Given the description of an element on the screen output the (x, y) to click on. 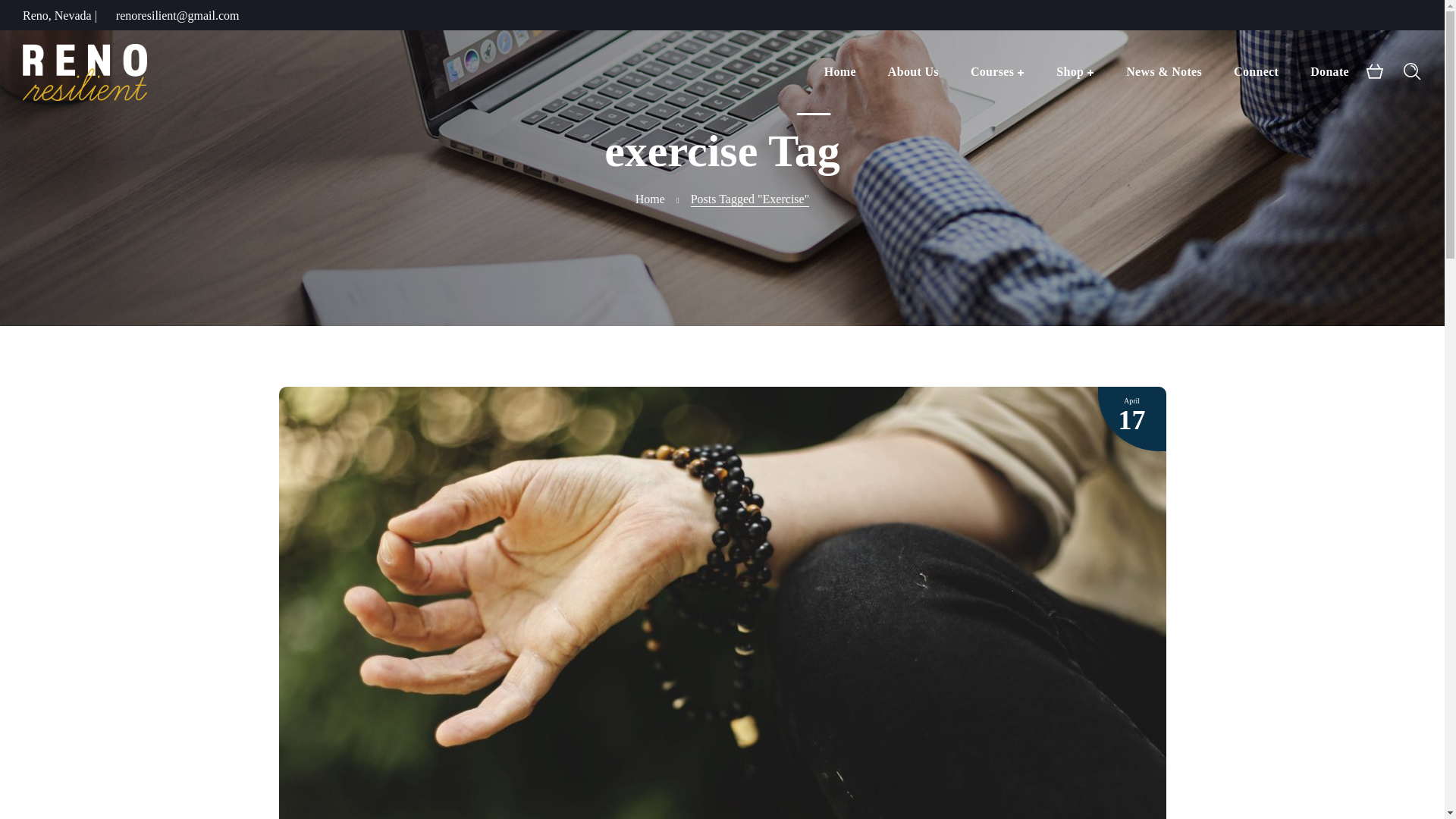
Courses (998, 71)
Connect (1255, 71)
About Us (913, 71)
Search (1357, 168)
